Given the description of an element on the screen output the (x, y) to click on. 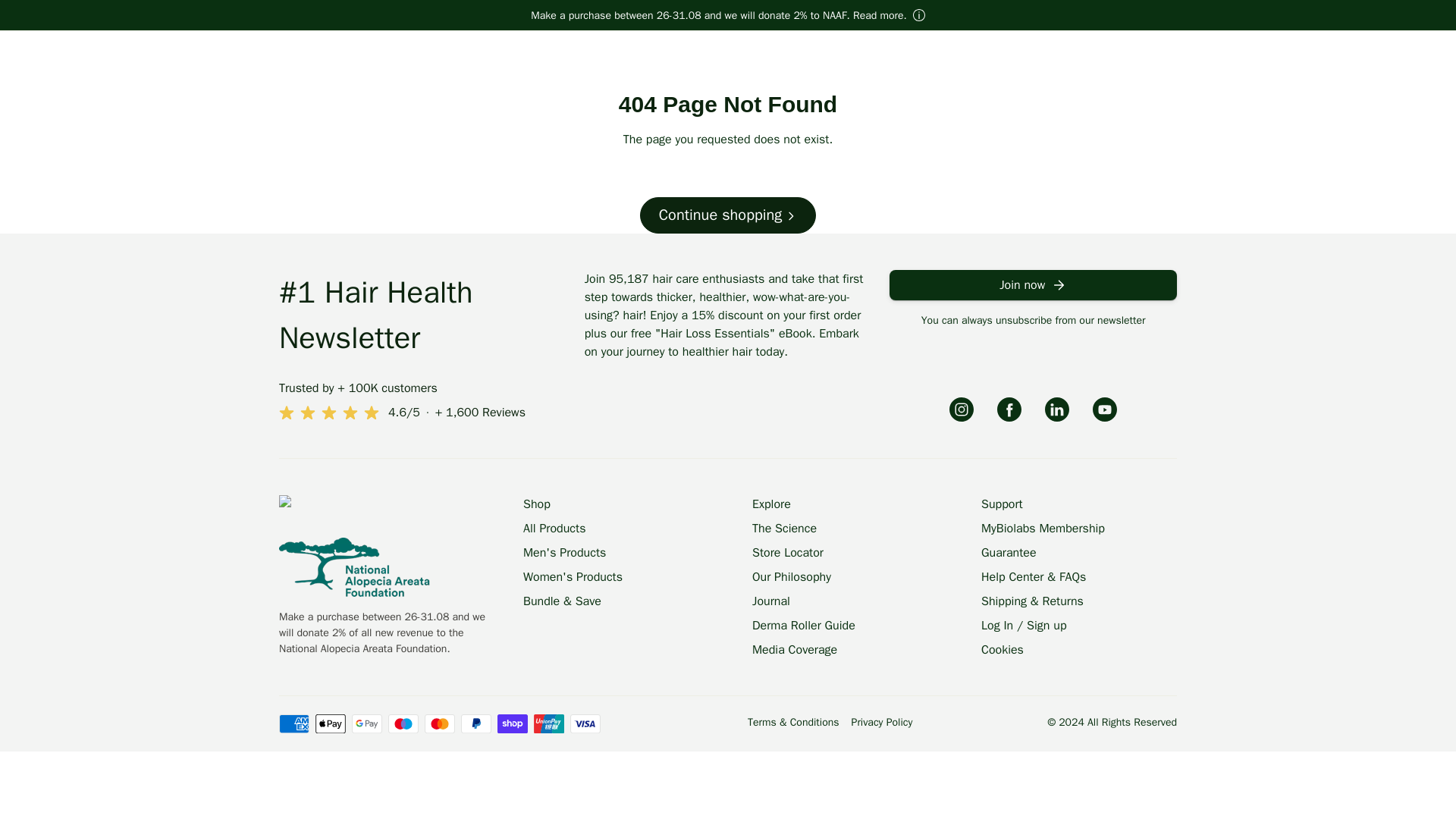
Derma Roller Guide (804, 625)
Our Philosophy (791, 577)
Guarantee (1008, 552)
Cookies (1002, 649)
Men's Products (563, 552)
All Products (553, 528)
Women's Products (572, 577)
Journal (771, 601)
Store Locator (788, 552)
MyBiolabs Membership (1043, 528)
